Given the description of an element on the screen output the (x, y) to click on. 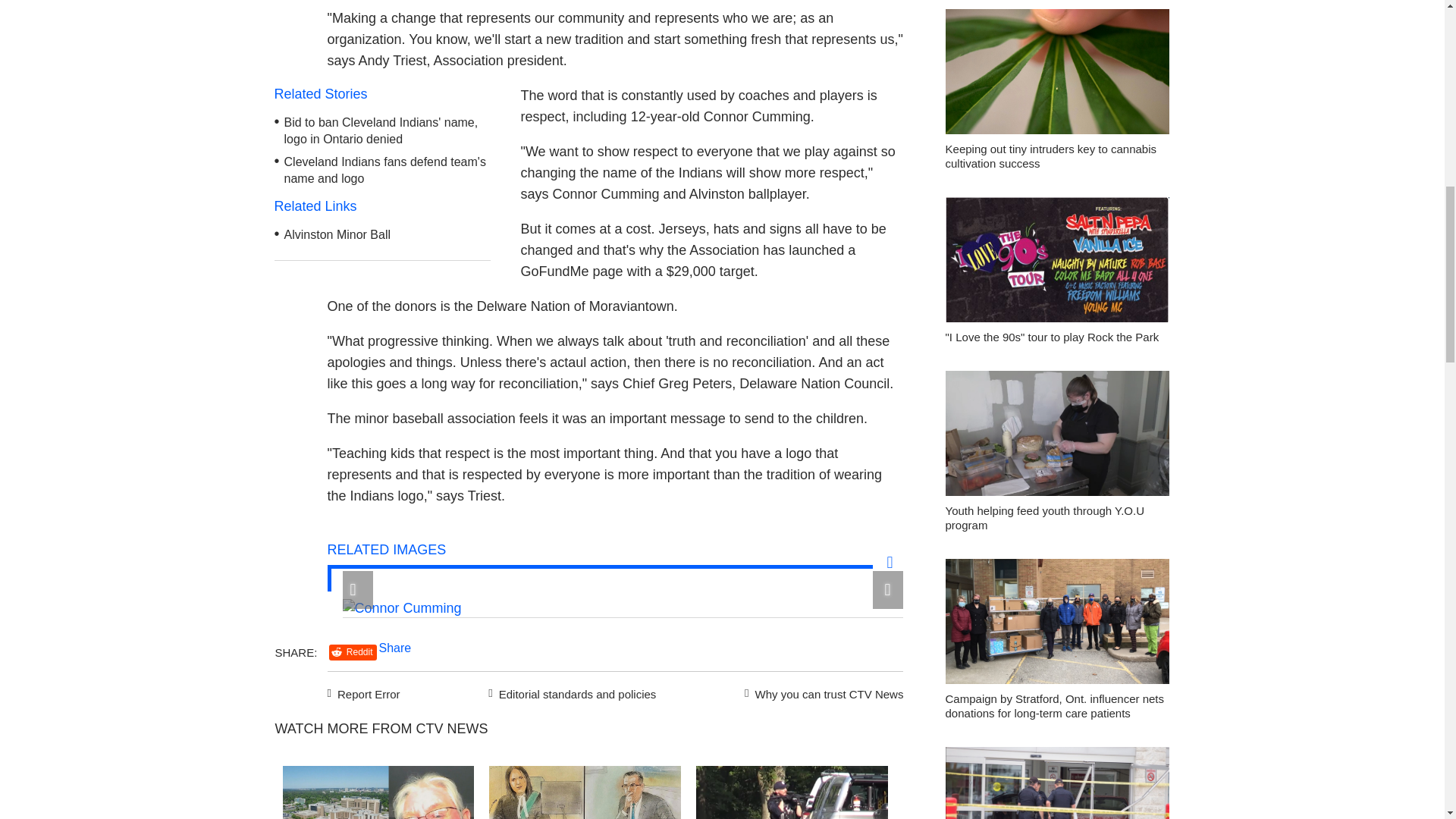
Share (395, 647)
Connor Cumming (401, 607)
22-LDN-DONOR18-RPT  (378, 792)
false (378, 792)
Cleveland Indians (171, 708)
Why you can trust CTV News (820, 691)
Bid to ban Cleveland Indians' name, logo in Ontario denied (381, 131)
false (585, 792)
22-LDN-JUNIORS18-VO  (585, 792)
false (791, 792)
Alvinston Minor Ball (337, 234)
Reddit (353, 652)
Connor Cumming (401, 607)
Cleveland Indians fans defend team's name and logo (384, 170)
Editorial standards and policies (569, 691)
